Given the description of an element on the screen output the (x, y) to click on. 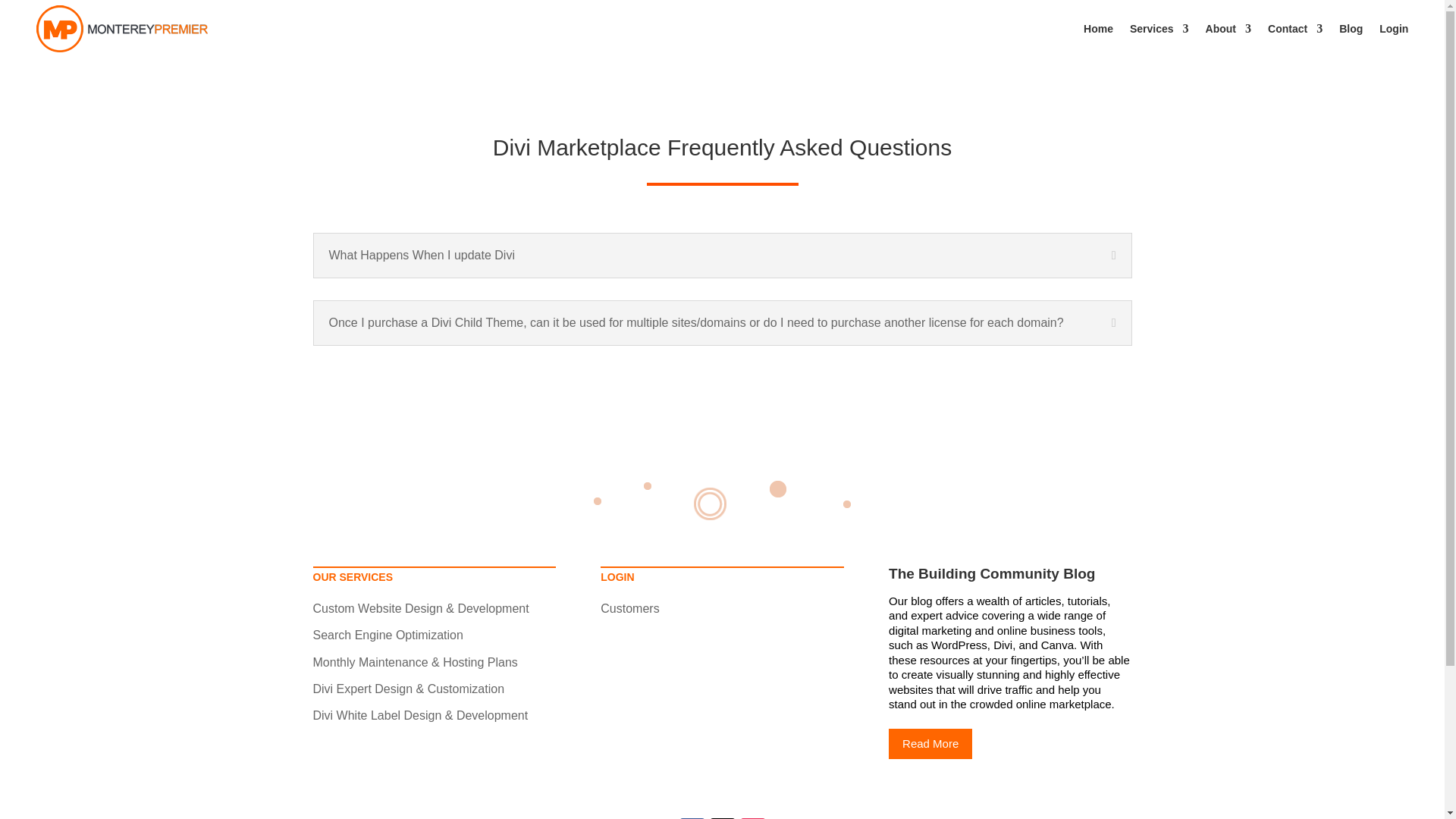
Divi Expert Consulting (408, 688)
Contact (1295, 28)
Services (1159, 28)
Search Engine Optimization (388, 634)
